Given the description of an element on the screen output the (x, y) to click on. 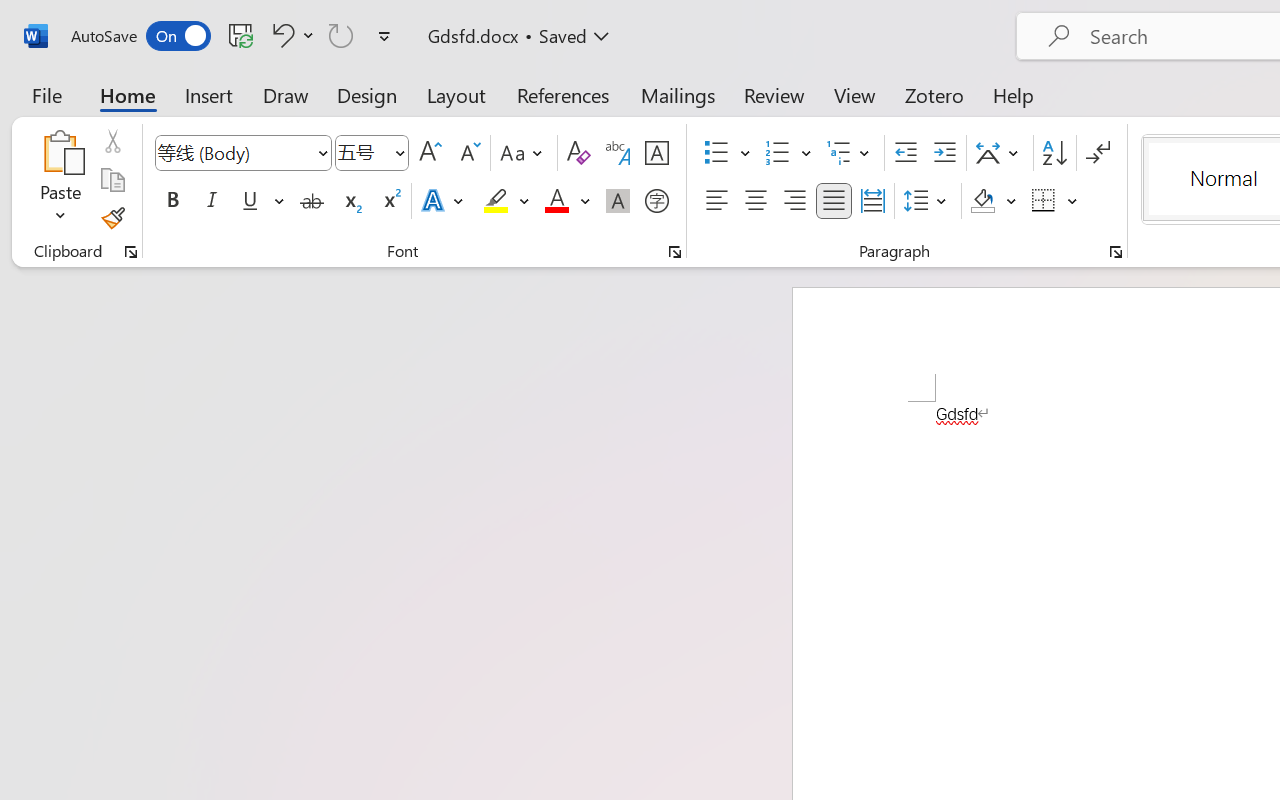
Can't Repeat (341, 35)
Font Color Red (556, 201)
